Given the description of an element on the screen output the (x, y) to click on. 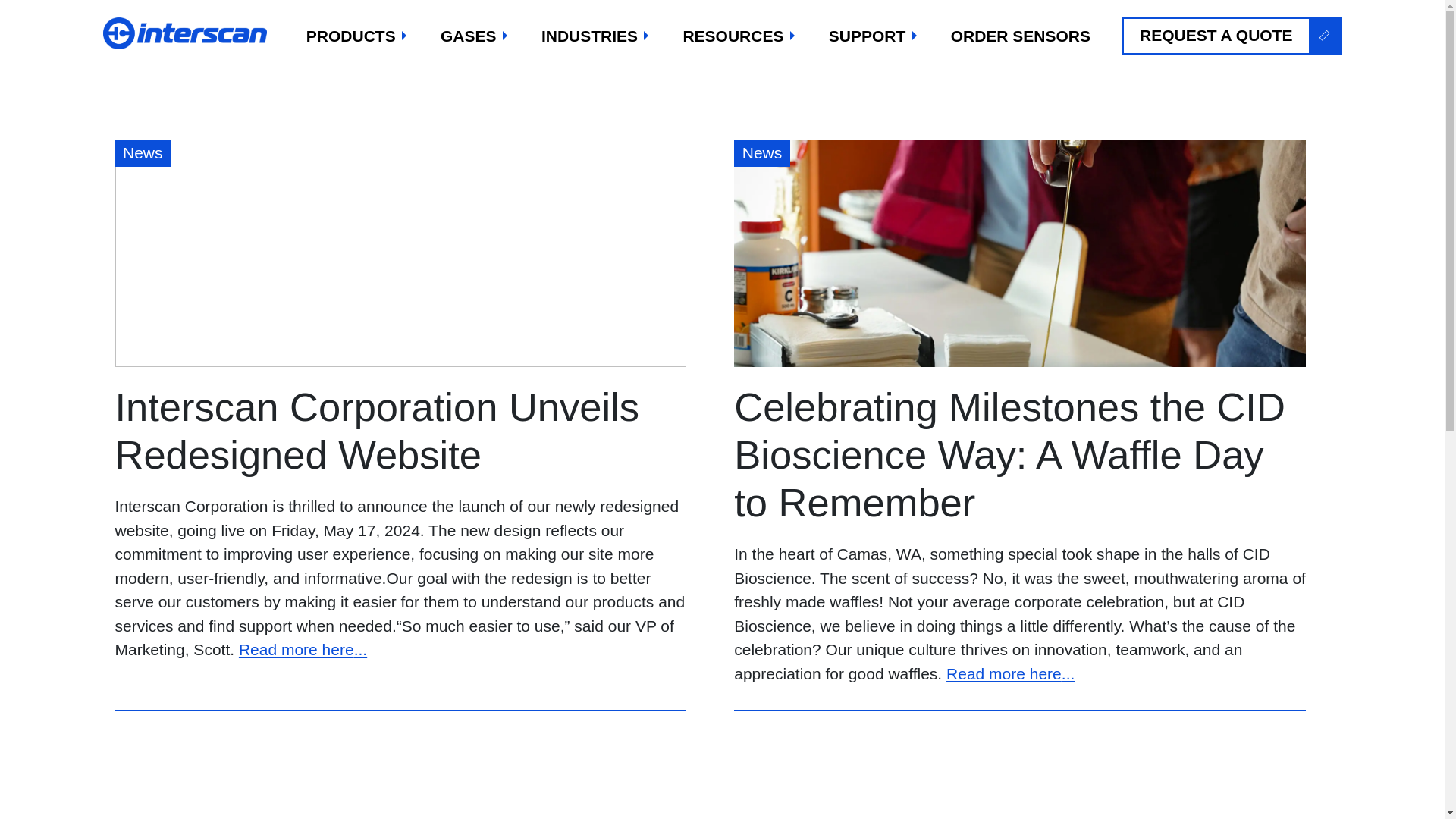
Gases (475, 35)
INDUSTRIES (595, 35)
Products (357, 35)
Interscan Corporation (186, 33)
GASES (475, 35)
PRODUCTS (357, 35)
